Given the description of an element on the screen output the (x, y) to click on. 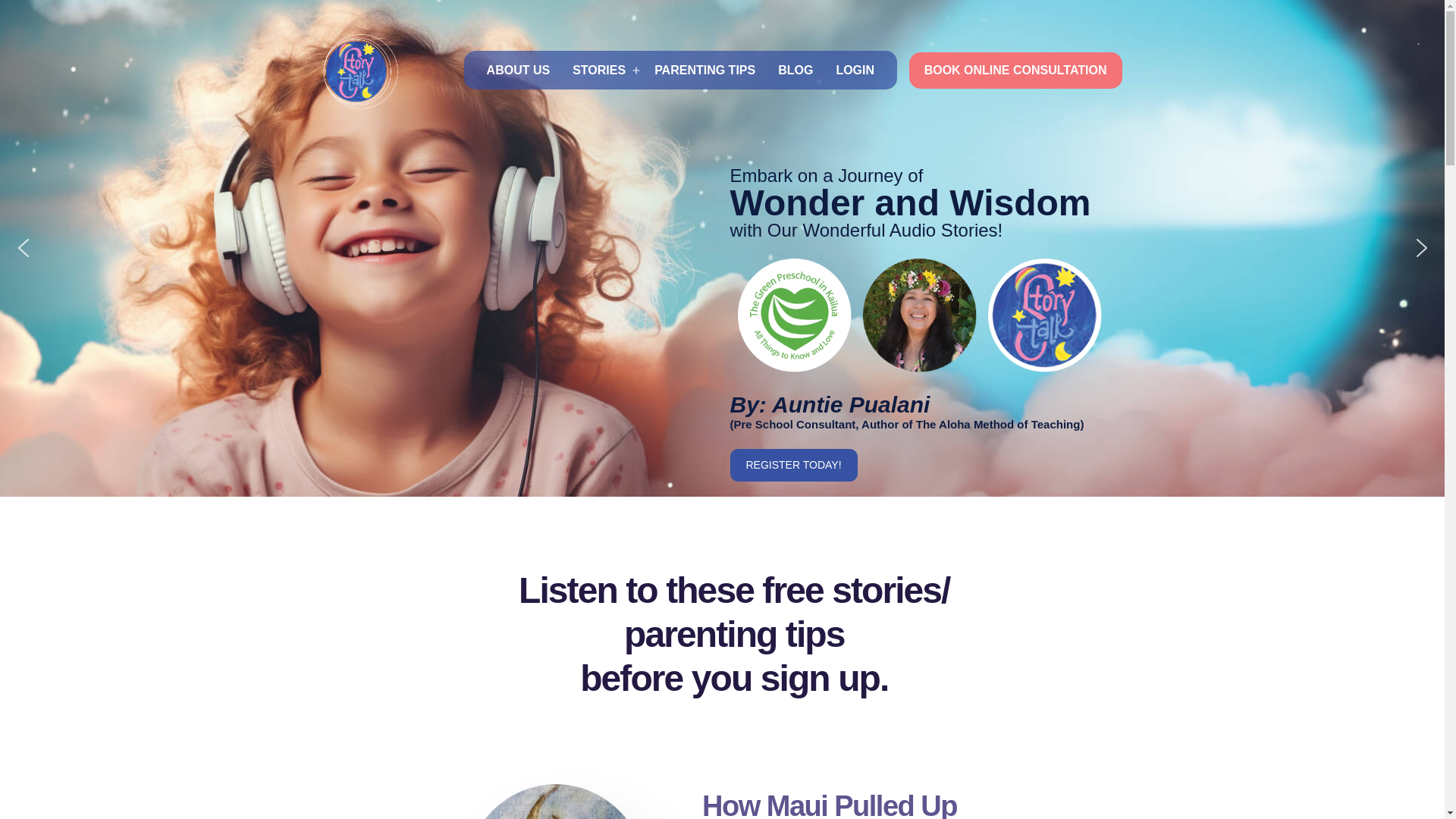
LOGIN (855, 68)
ABOUT US (518, 68)
PARENTING TIPS (704, 68)
REGISTER TODAY! (793, 464)
STORIES (599, 68)
BLOG (794, 68)
BOOK ONLINE CONSULTATION (1015, 69)
